Given the description of an element on the screen output the (x, y) to click on. 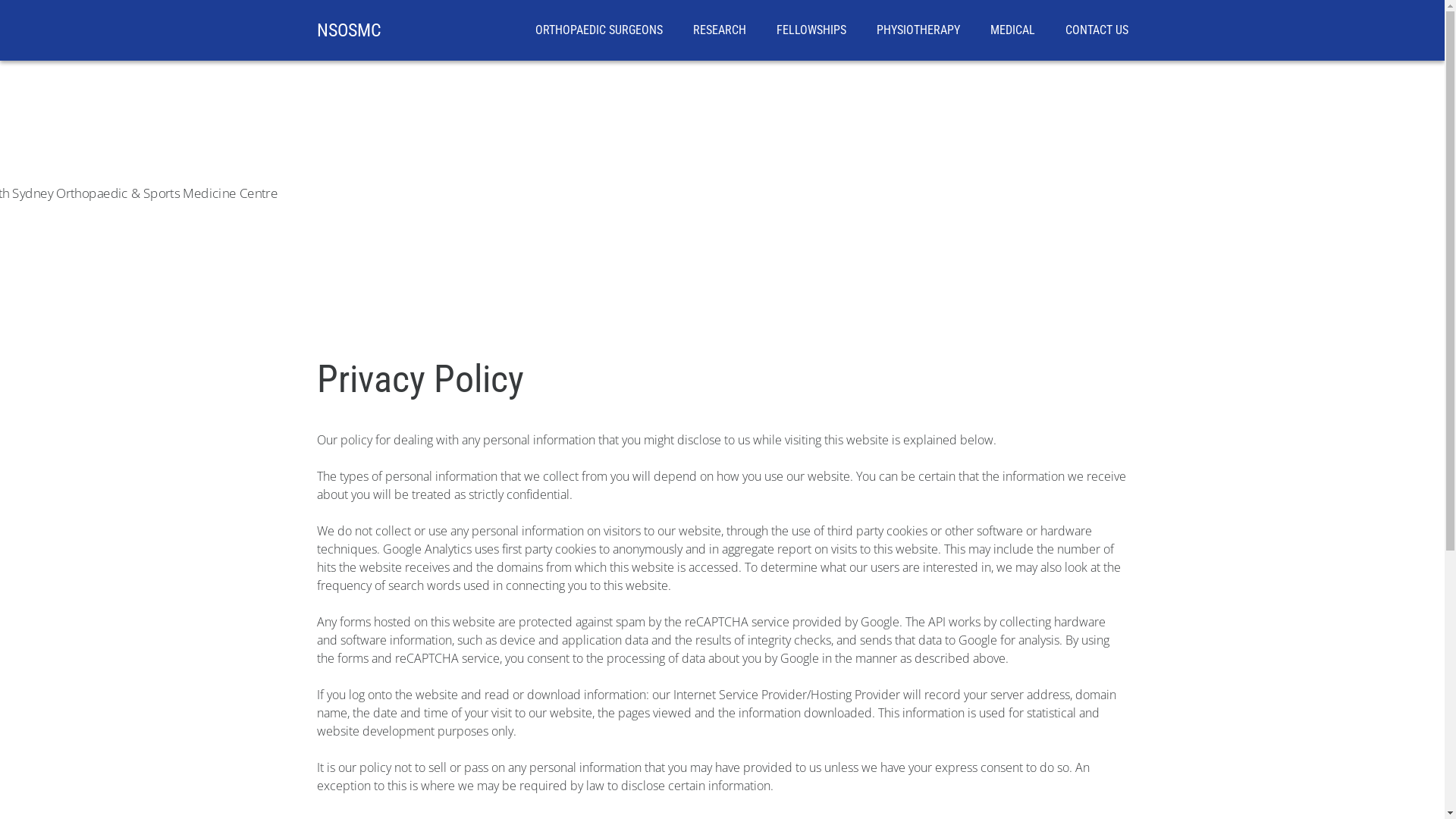
CONTACT US Element type: text (1095, 30)
RESEARCH Element type: text (719, 30)
ORTHOPAEDIC SURGEONS Element type: text (598, 30)
FELLOWSHIPS Element type: text (811, 30)
NSOSMC Element type: text (348, 29)
PHYSIOTHERAPY Element type: text (918, 30)
MEDICAL Element type: text (1012, 30)
